Given the description of an element on the screen output the (x, y) to click on. 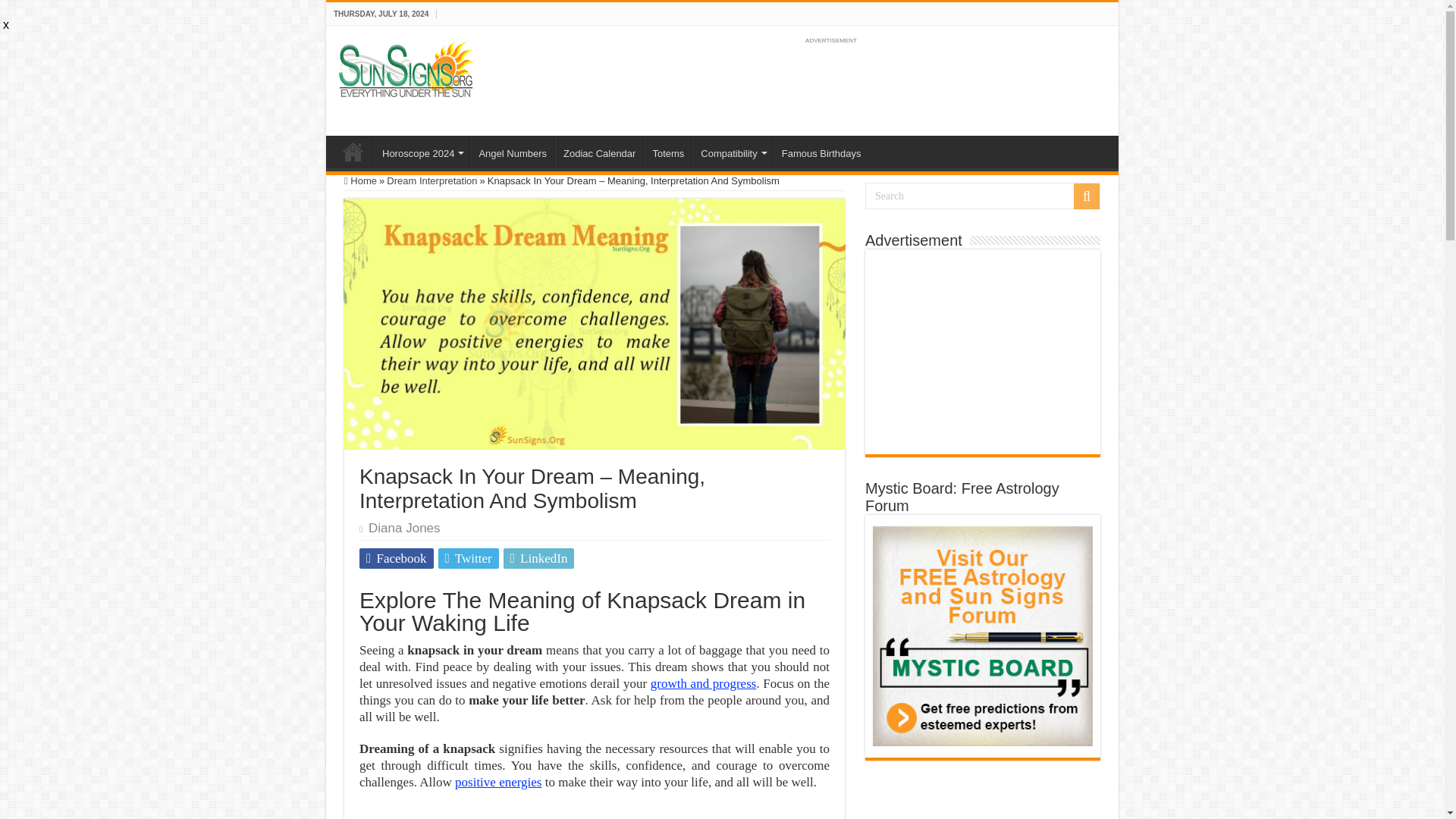
Sun Signs (352, 151)
Search (1086, 196)
Horoscope 2024 (421, 151)
Home (360, 180)
Zodiac Calendar (598, 151)
Home (352, 151)
Sun Signs (405, 67)
Dream Interpretation (432, 180)
LinkedIn (539, 557)
growth and progress (703, 683)
Totems (667, 151)
Angel Numbers (512, 151)
Horoscope 2024 (421, 151)
3rd party ad content (830, 82)
Facebook (396, 557)
